Given the description of an element on the screen output the (x, y) to click on. 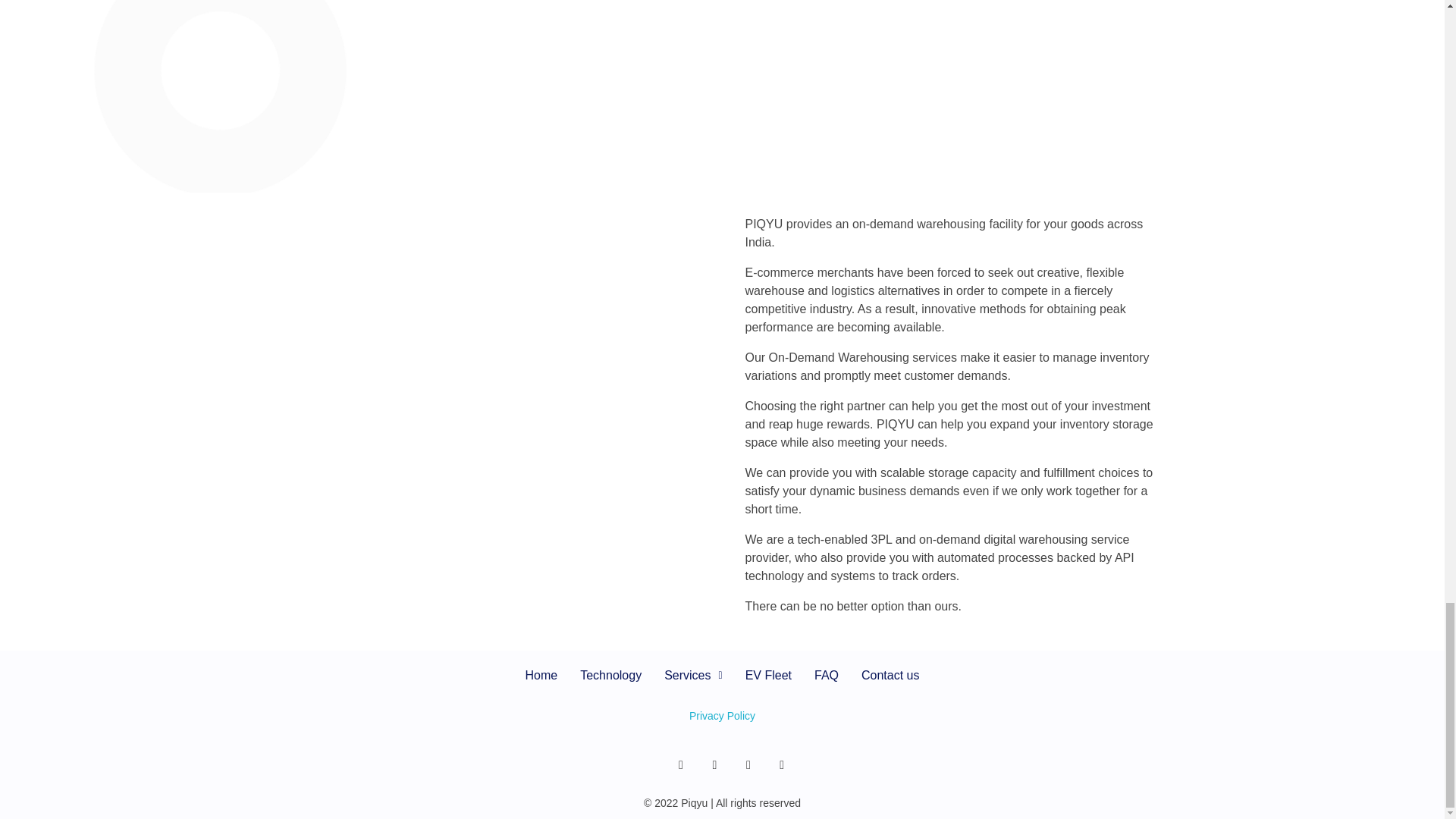
Technology (610, 675)
FAQ (826, 675)
Contact us (890, 675)
Services (692, 675)
Privacy Policy (721, 715)
EV Fleet (768, 675)
Home (541, 675)
